Given the description of an element on the screen output the (x, y) to click on. 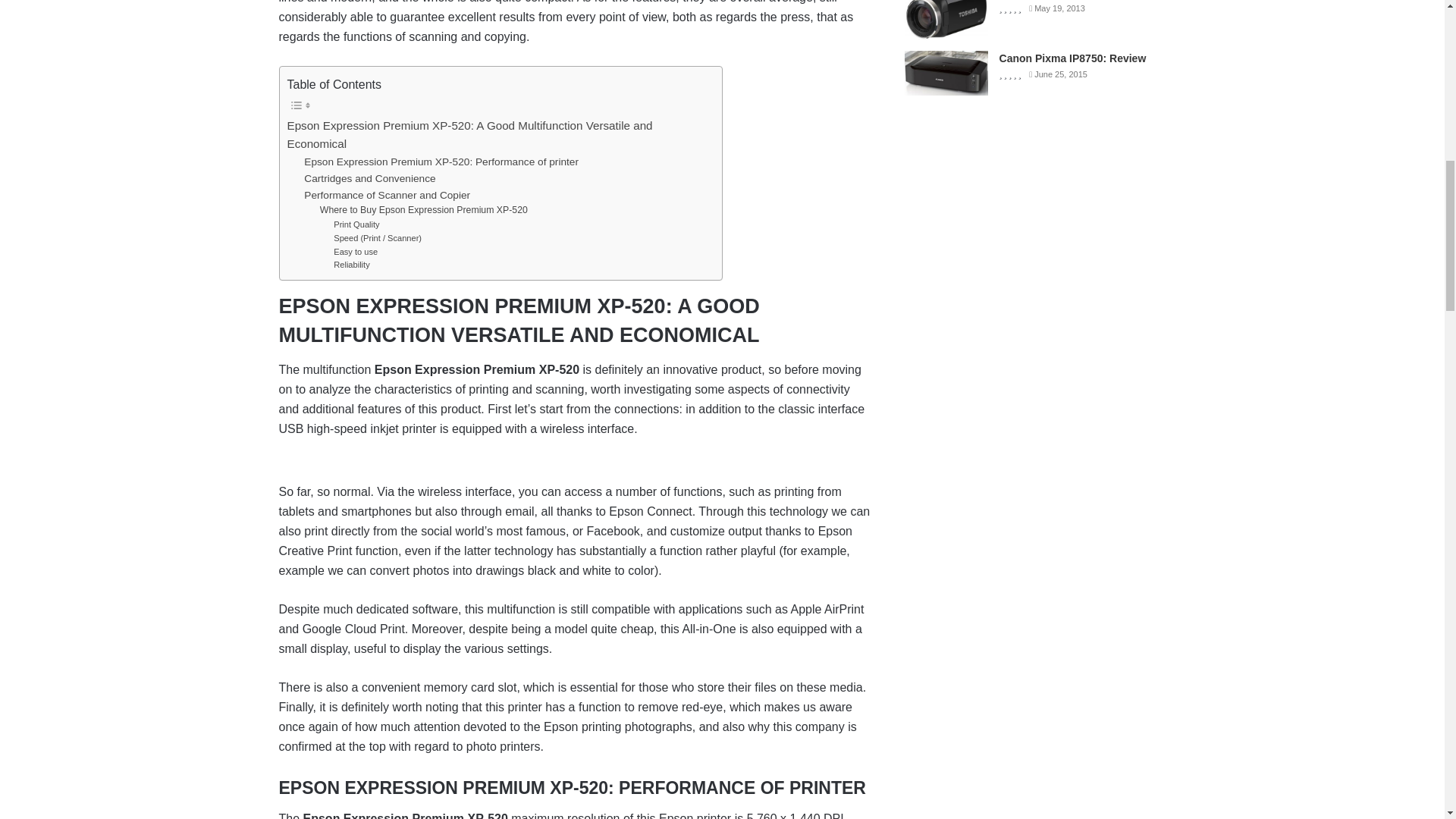
Performance of Scanner and Copier (387, 195)
Cartridges and Convenience (369, 178)
Cartridges and Convenience (369, 178)
Reliability (351, 264)
Epson Expression Premium XP-520: Performance of printer (441, 161)
Where to Buy Epson Expression Premium XP-520 (423, 210)
Print Quality (355, 224)
Where to Buy Epson Expression Premium XP-520 (423, 210)
Performance of Scanner and Copier (387, 195)
Reliability (351, 264)
Print Quality (355, 224)
Easy to use (355, 252)
Epson Expression Premium XP-520: Performance of printer (441, 161)
